Given the description of an element on the screen output the (x, y) to click on. 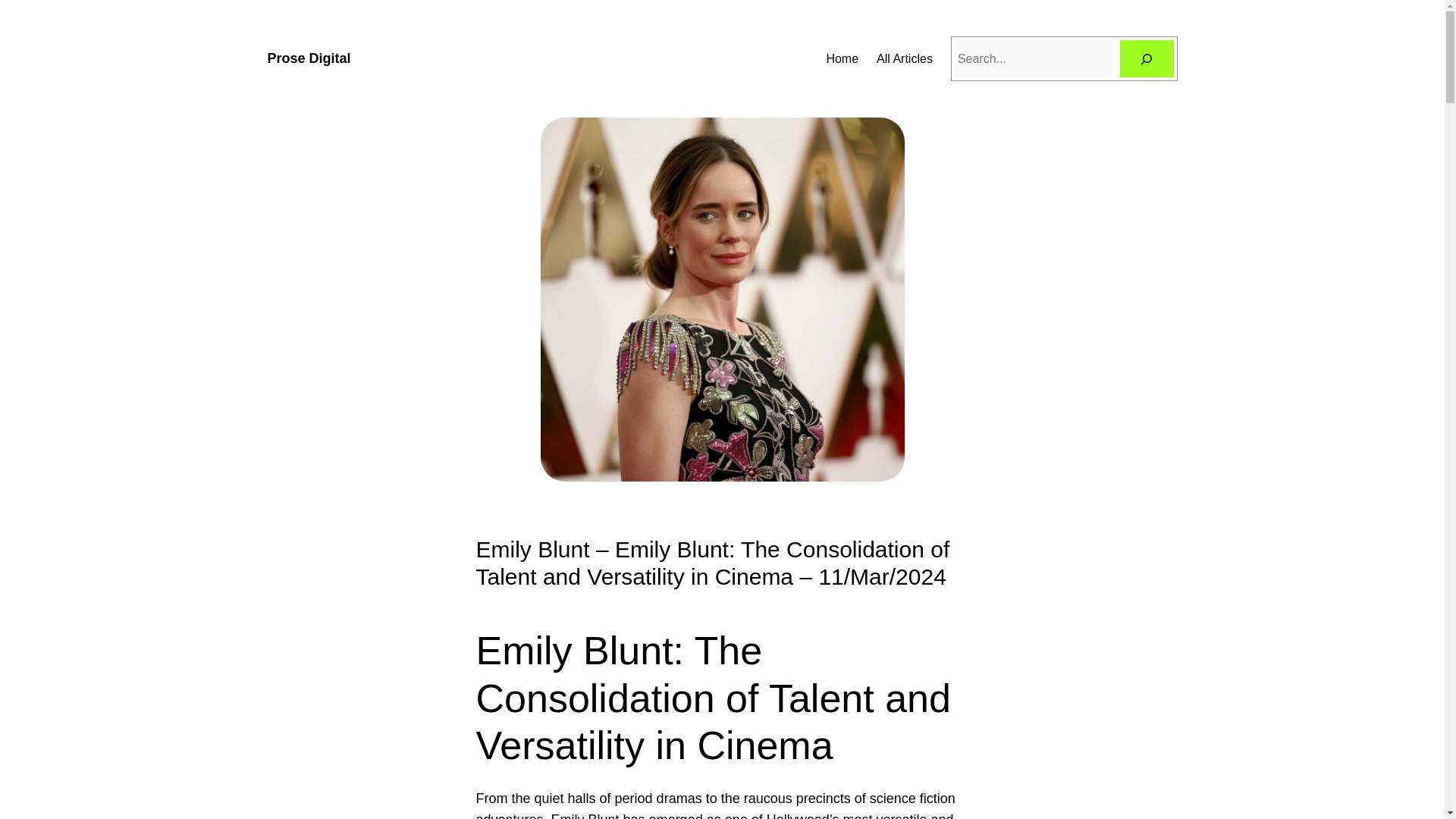
Home (842, 58)
Prose Digital (308, 58)
All Articles (904, 58)
